Given the description of an element on the screen output the (x, y) to click on. 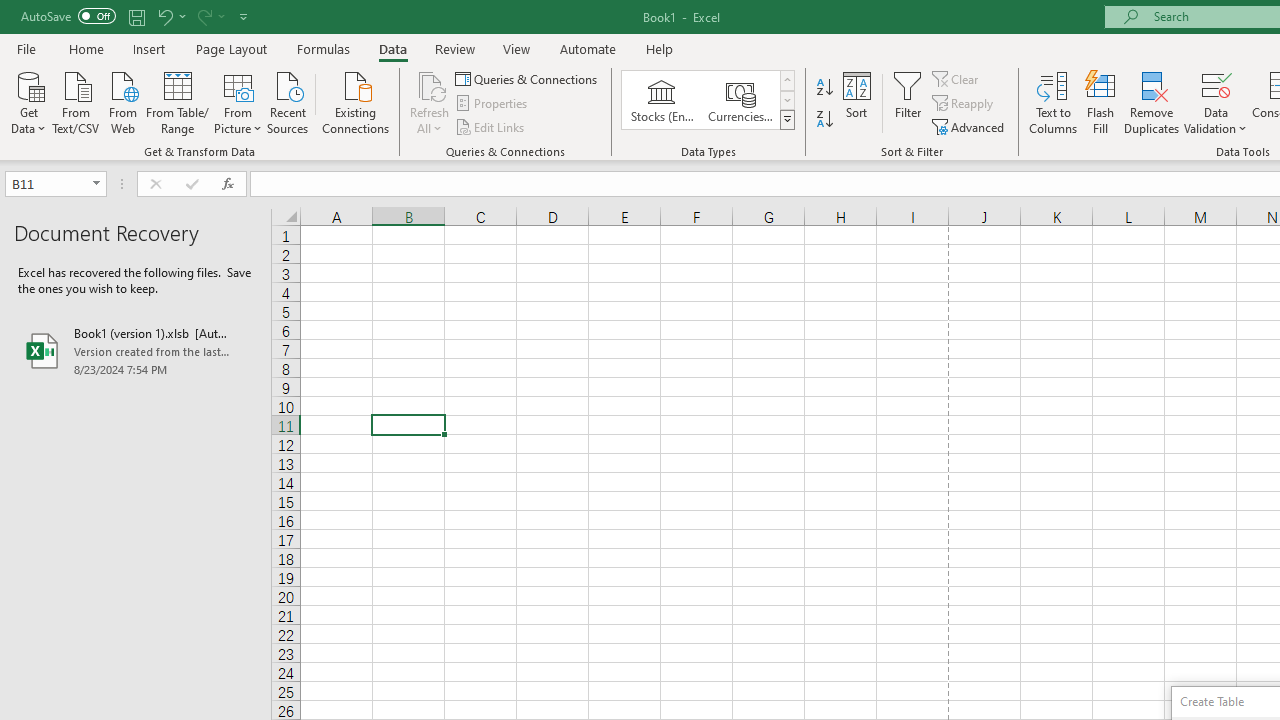
Stocks (English) (662, 100)
Clear (957, 78)
Row up (786, 79)
Currencies (English) (740, 100)
Refresh All (429, 102)
Refresh All (429, 84)
Remove Duplicates (1151, 102)
From Text/CSV (75, 101)
Filter (908, 102)
From Picture (238, 101)
